Given the description of an element on the screen output the (x, y) to click on. 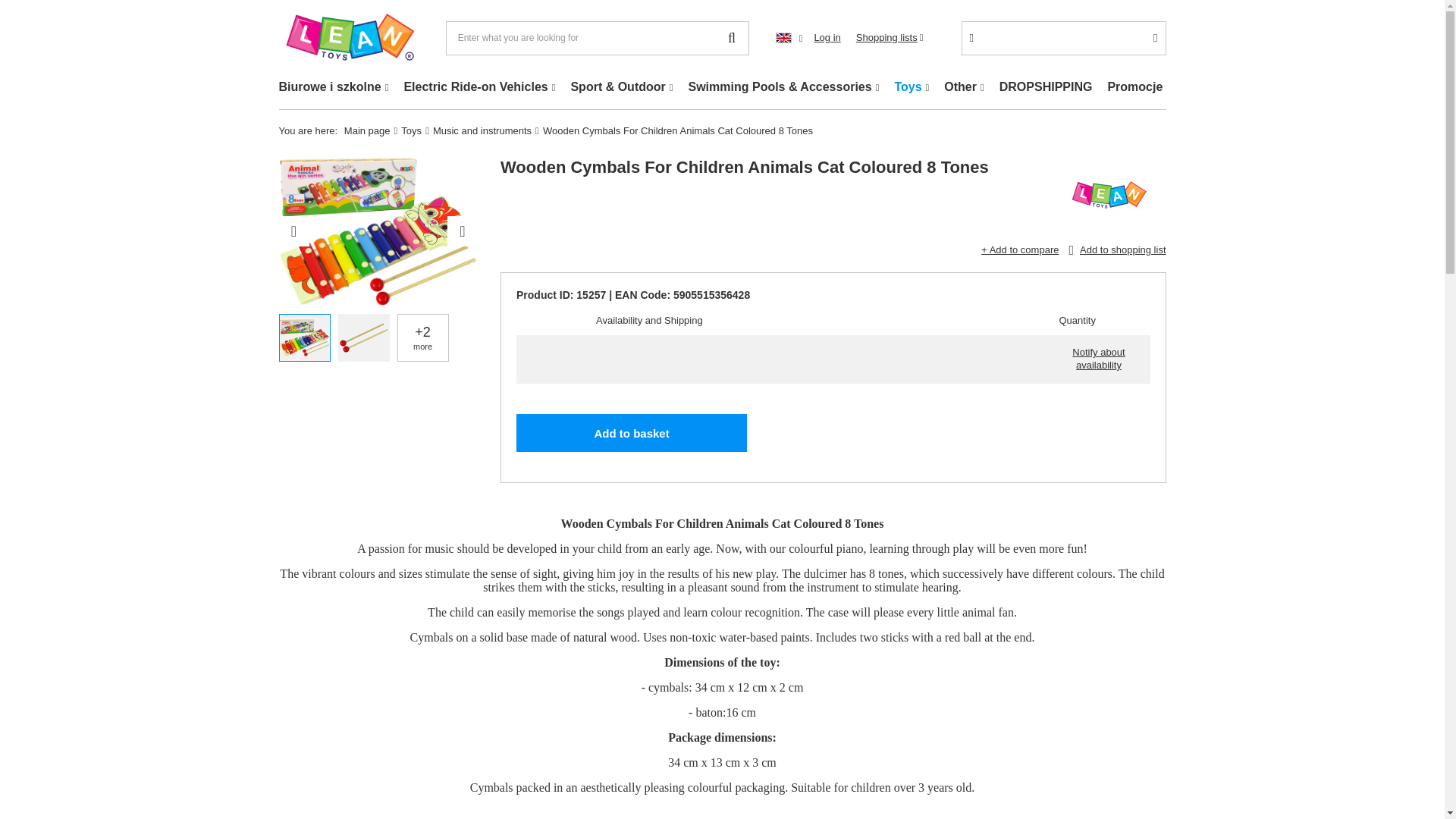
DROPSHIPPING (1045, 88)
Promocje (1134, 88)
Biurowe i szkolne (333, 88)
Log in (826, 38)
Shopping lists (889, 37)
Other (963, 88)
Biurowe i szkolne (333, 88)
Electric Ride-on Vehicles (479, 88)
Electric Ride-on Vehicles (479, 88)
Toys (911, 88)
